Given the description of an element on the screen output the (x, y) to click on. 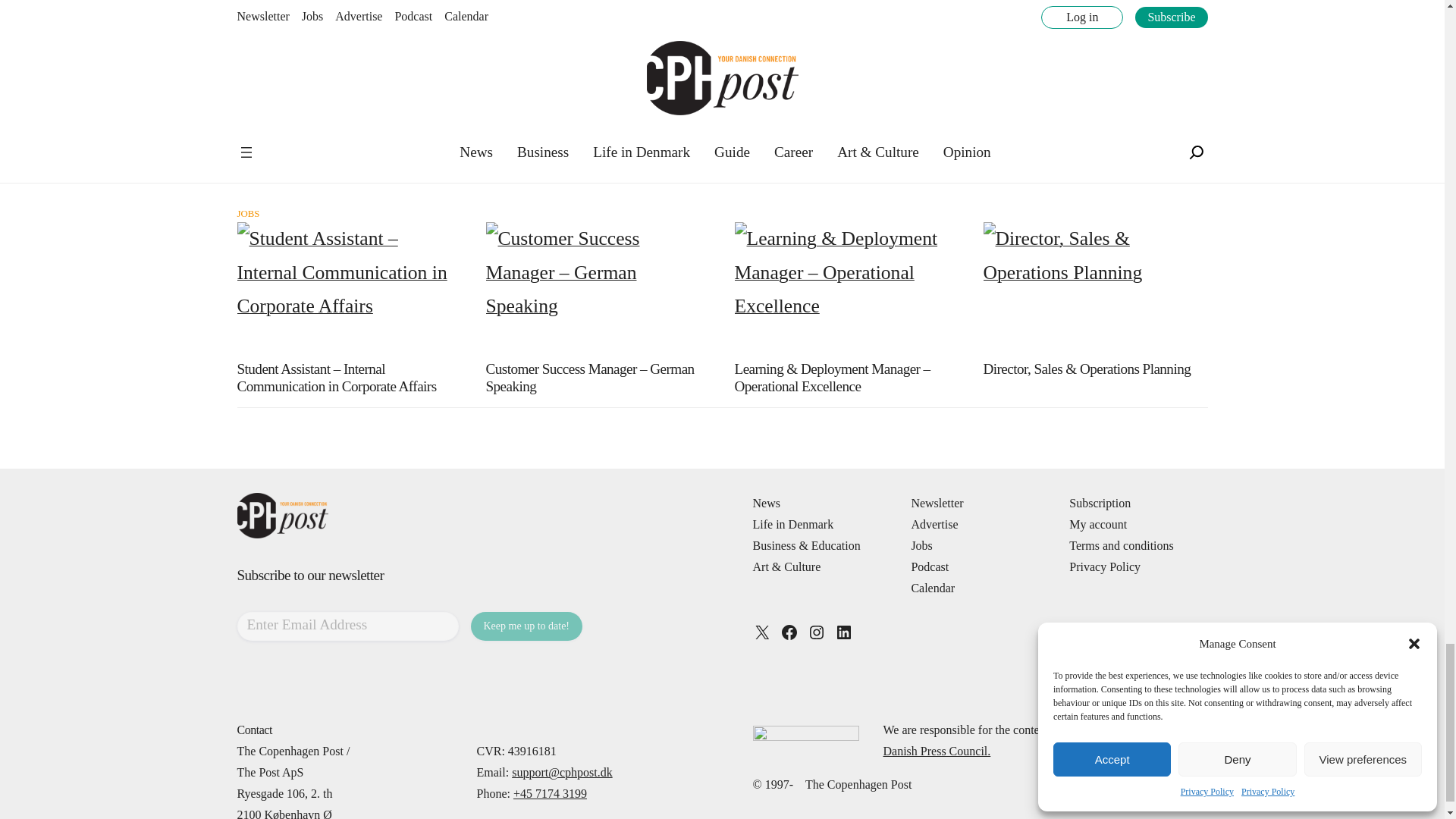
Keep me up to date! (526, 625)
